Given the description of an element on the screen output the (x, y) to click on. 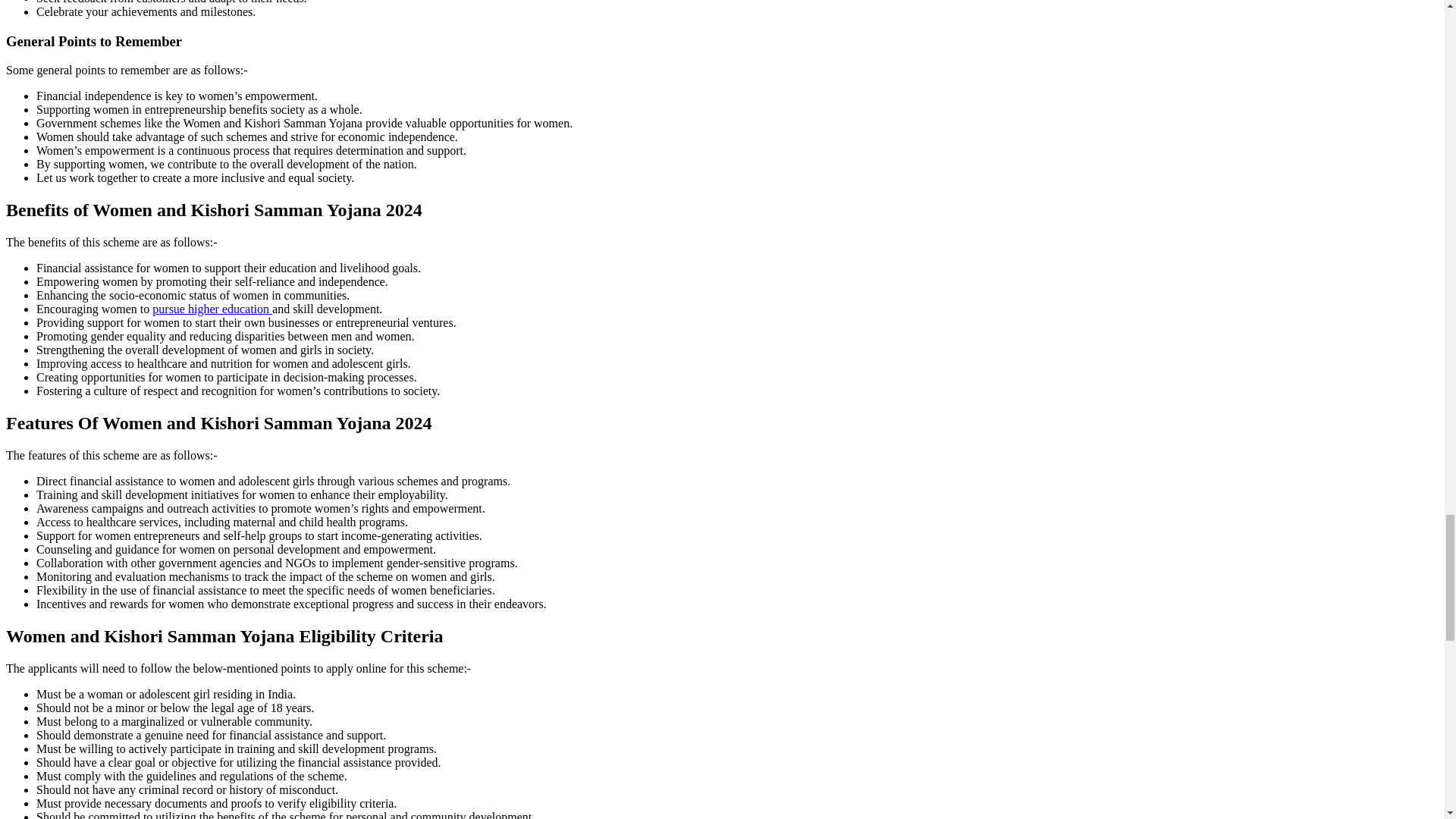
pursue higher education (212, 308)
